Given the description of an element on the screen output the (x, y) to click on. 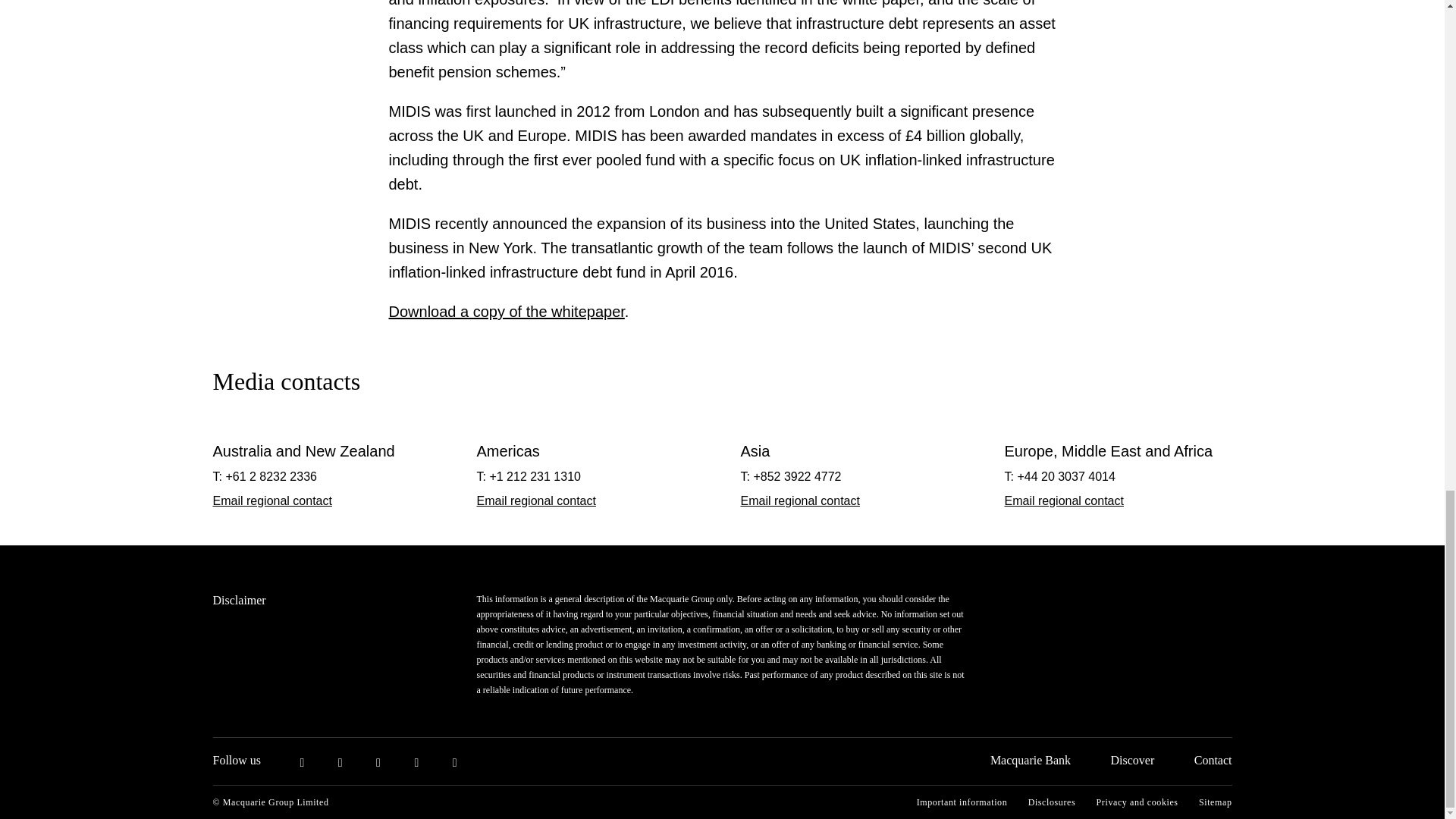
Whitepaper PDF (506, 311)
